Given the description of an element on the screen output the (x, y) to click on. 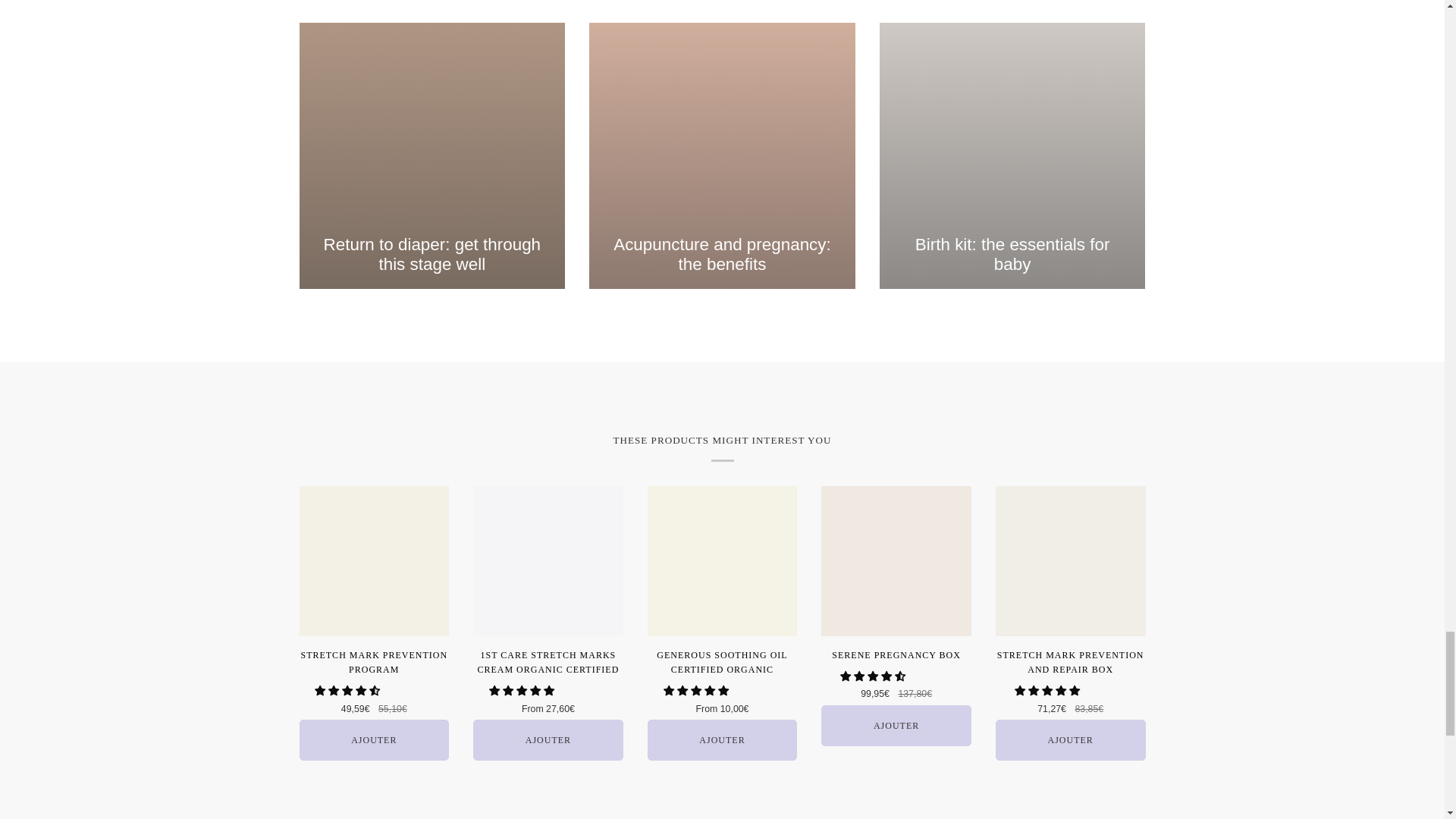
Ajouter (548, 739)
Ajouter (722, 739)
Ajouter (373, 739)
Ajouter (896, 725)
Ajouter (1070, 739)
